Given the description of an element on the screen output the (x, y) to click on. 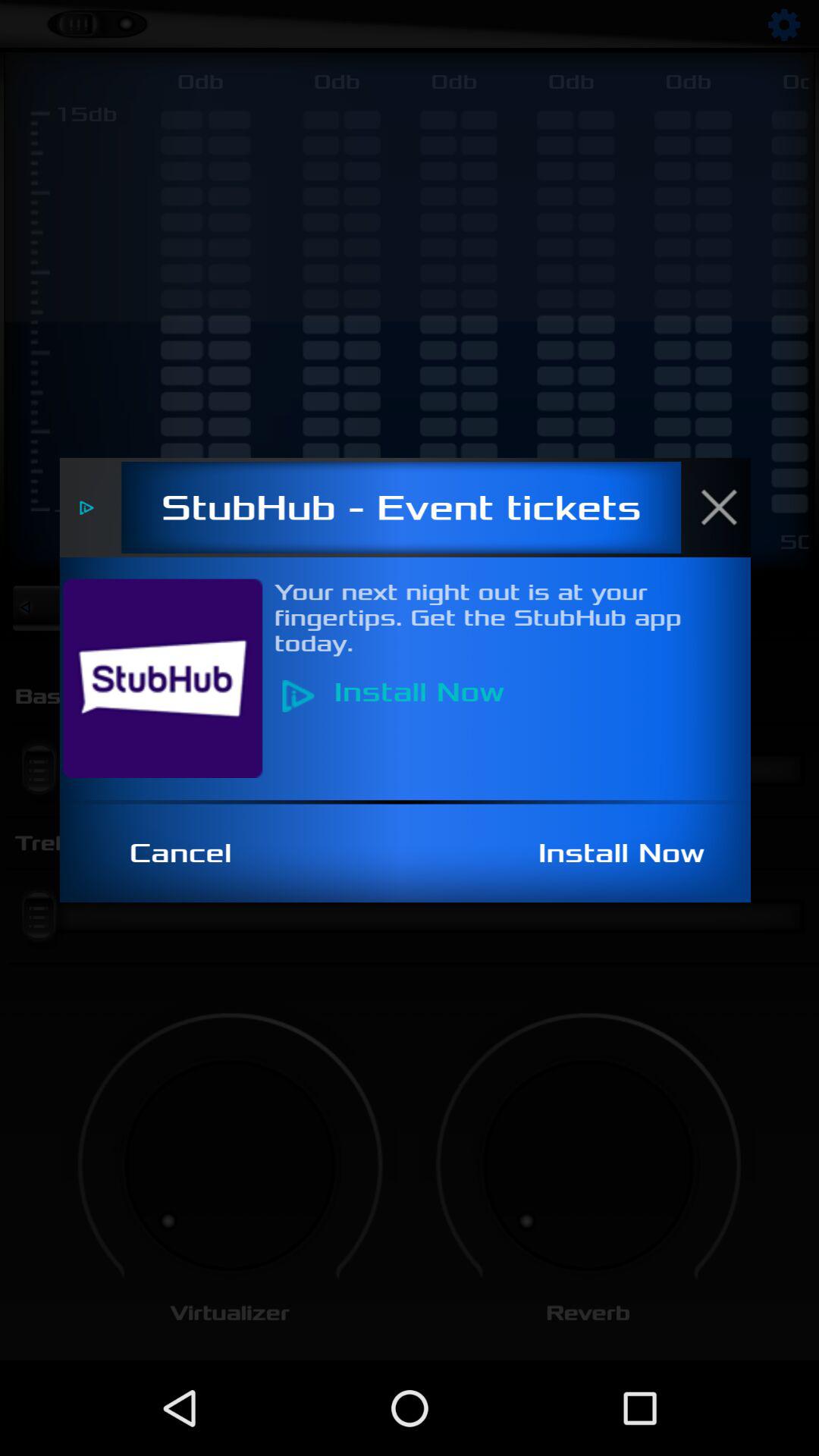
select the item next to the stubhub - event tickets (727, 507)
